Given the description of an element on the screen output the (x, y) to click on. 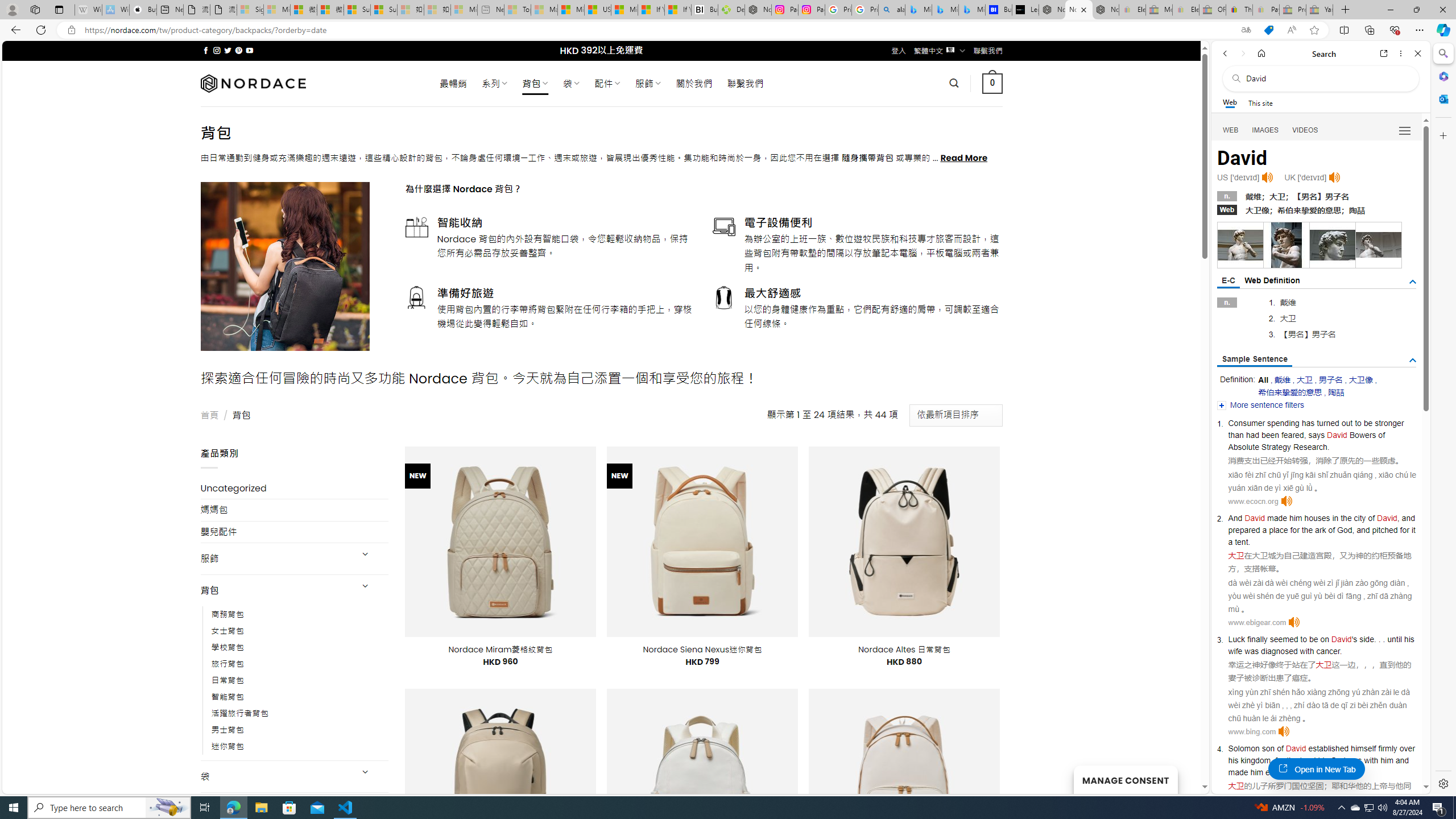
firmly (1387, 747)
Click to listen (1284, 731)
side (1366, 638)
diagnosed (1278, 651)
son (1267, 747)
the (1292, 759)
Search Filter, IMAGES (1265, 129)
E-C (1228, 281)
